Given the description of an element on the screen output the (x, y) to click on. 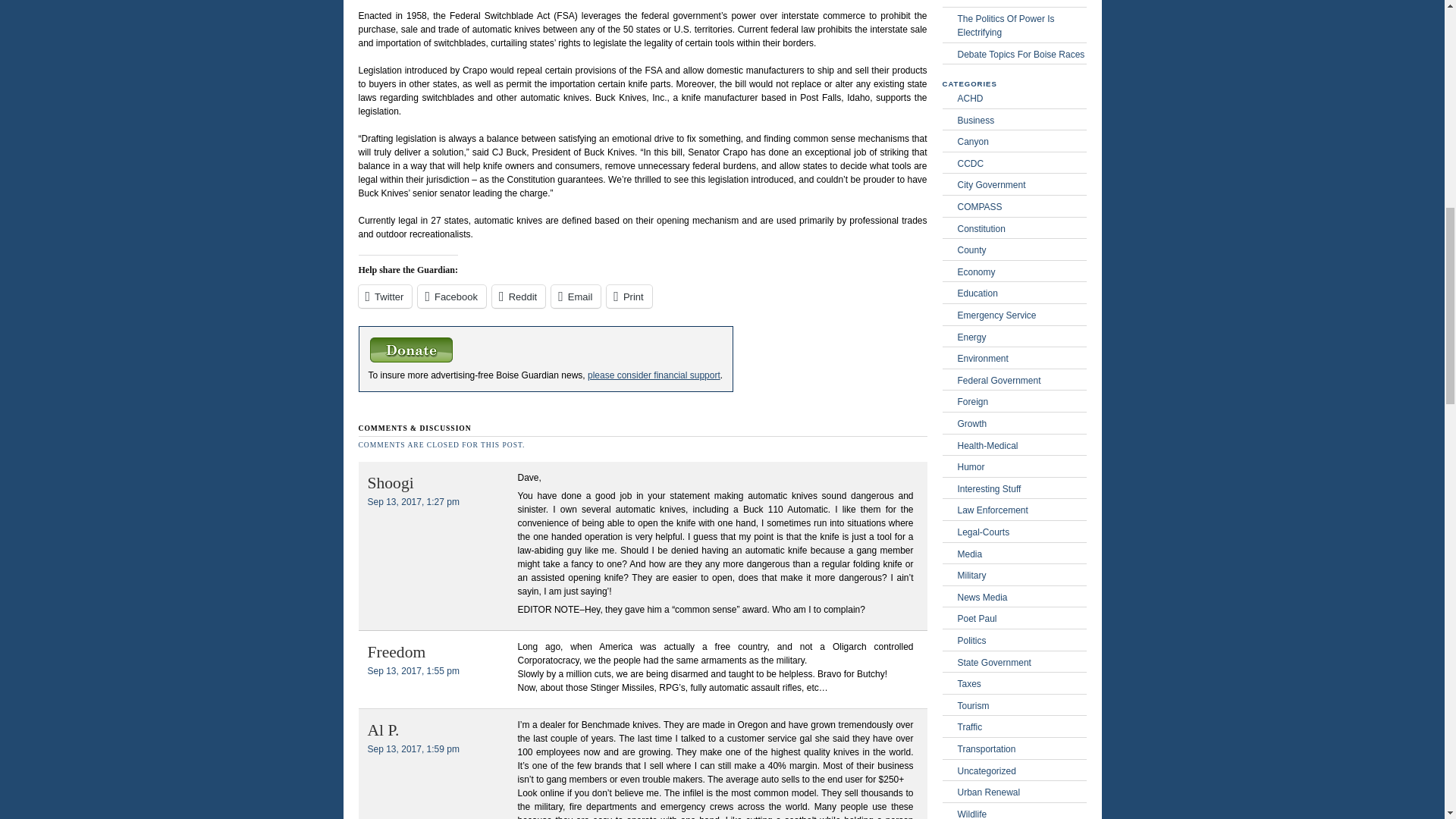
Sep 13, 2017, 1:55 pm (412, 670)
Click to share on Reddit (518, 296)
please consider financial support (654, 375)
Facebook (451, 296)
Twitter (385, 296)
Click to print (628, 296)
Print (628, 296)
Reddit (518, 296)
Click to share on Twitter (385, 296)
Sep 13, 2017, 1:59 pm (412, 748)
Click to email a link to a friend (575, 296)
Email (575, 296)
Sep 13, 2017, 1:27 pm (412, 501)
Click to share on Facebook (451, 296)
